Given the description of an element on the screen output the (x, y) to click on. 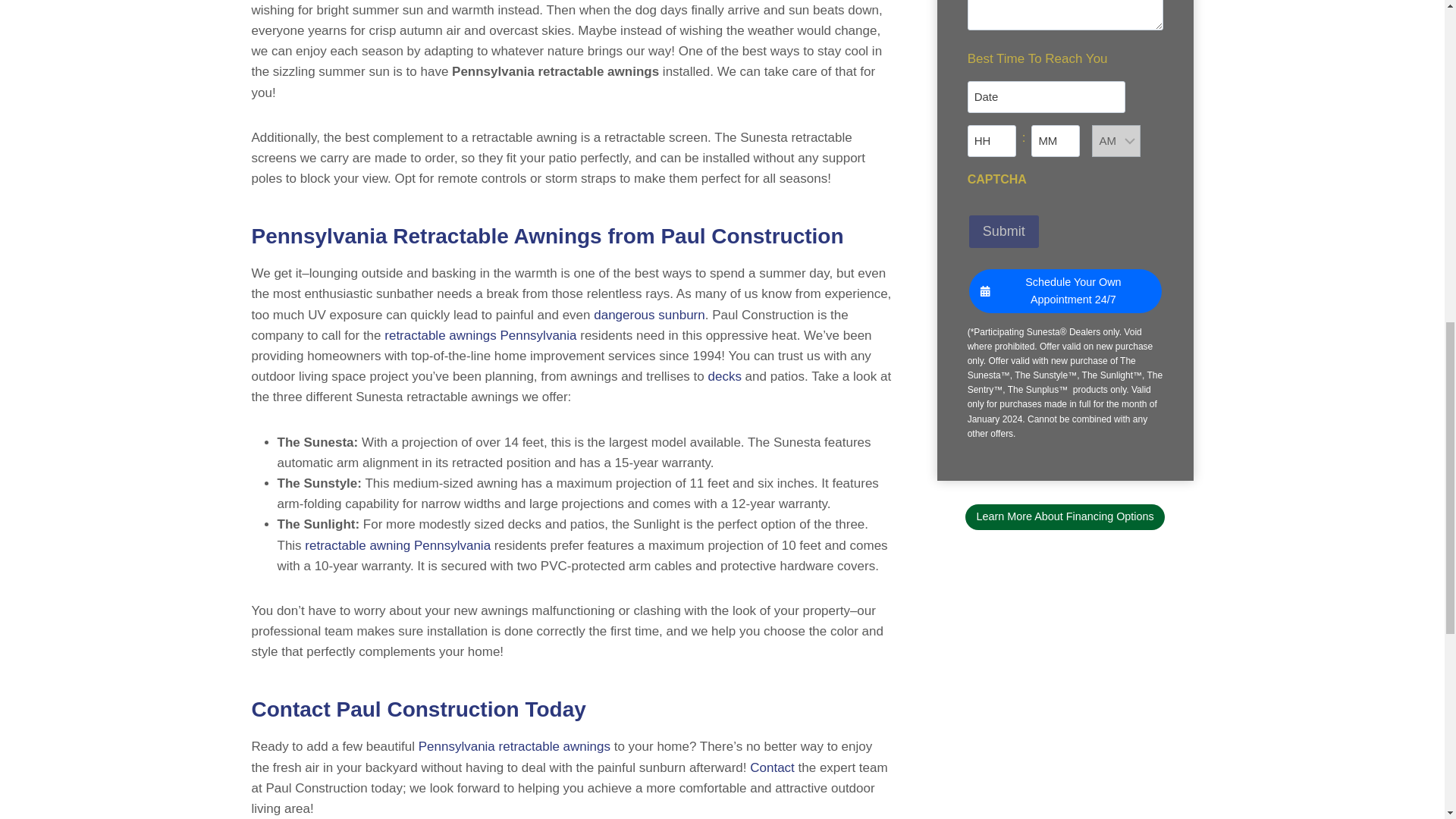
Submit (1004, 231)
